Given the description of an element on the screen output the (x, y) to click on. 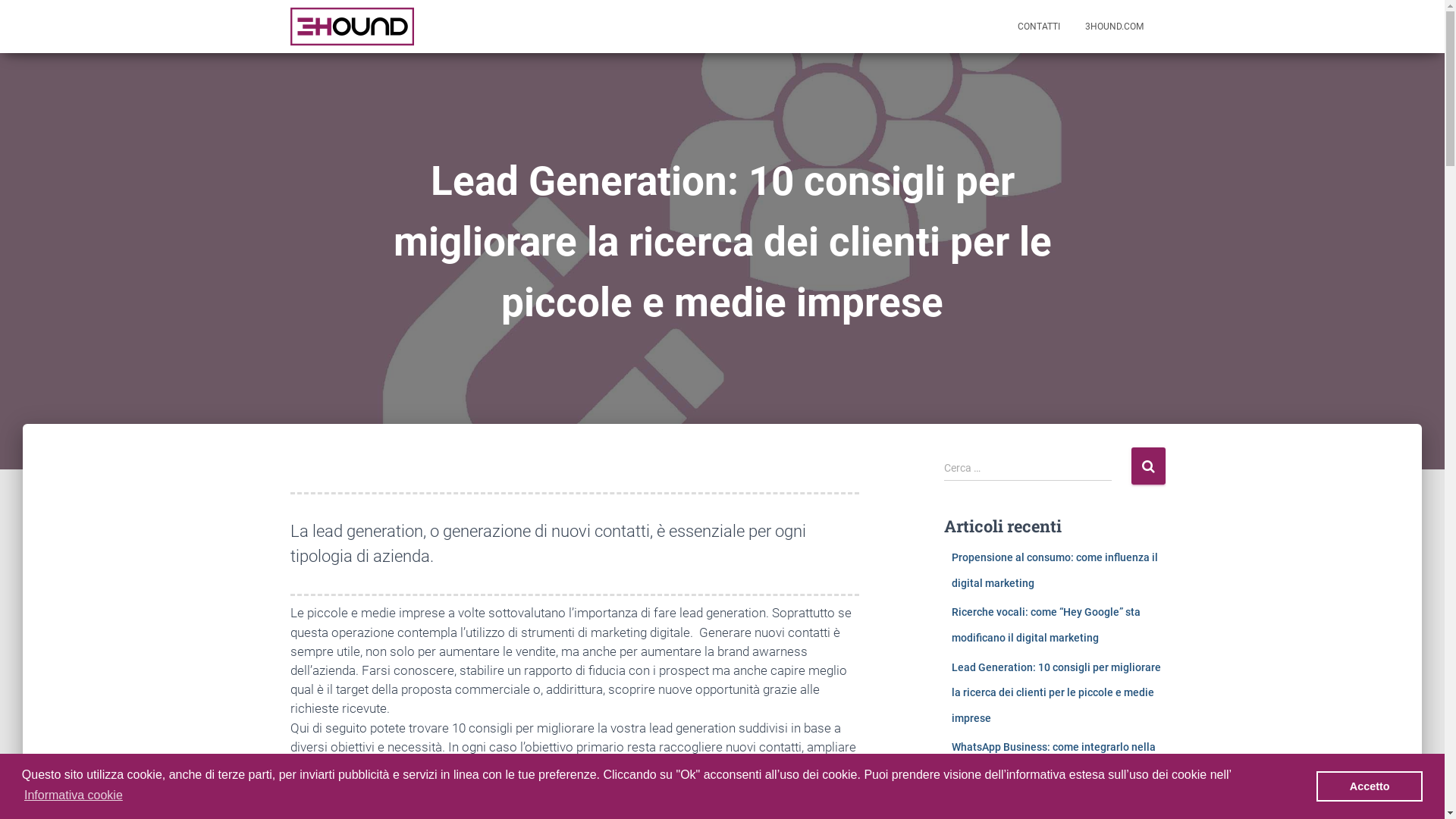
Propensione al consumo: come influenza il digital marketing Element type: text (1054, 570)
Blog 3Hound Element type: hover (351, 26)
Cerca Element type: text (1148, 465)
Informativa cookie Element type: text (73, 795)
Accetto Element type: text (1369, 786)
CONTATTI Element type: text (1037, 26)
3HOUND.COM Element type: text (1113, 26)
